Given the description of an element on the screen output the (x, y) to click on. 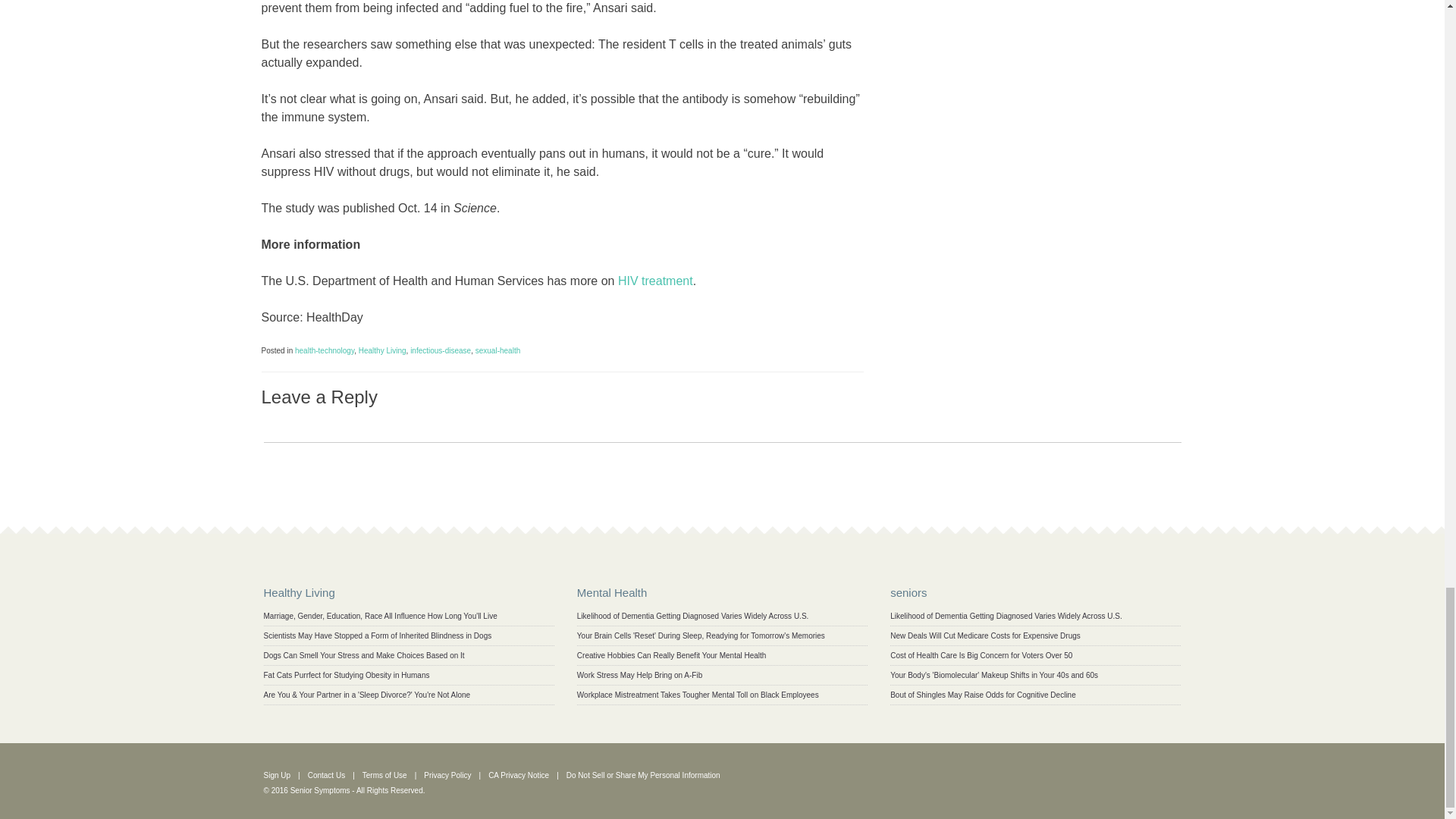
Your Body's 'Biomolecular' Makeup Shifts in Your 40s and 60s (993, 674)
Sign Up (277, 775)
Dogs Can Smell Your Stress and Make Choices Based on It (363, 655)
health-technology (324, 350)
infectious-disease (440, 350)
Terms of Use (384, 775)
Fat Cats Purrfect for Studying Obesity in Humans (346, 674)
